Given the description of an element on the screen output the (x, y) to click on. 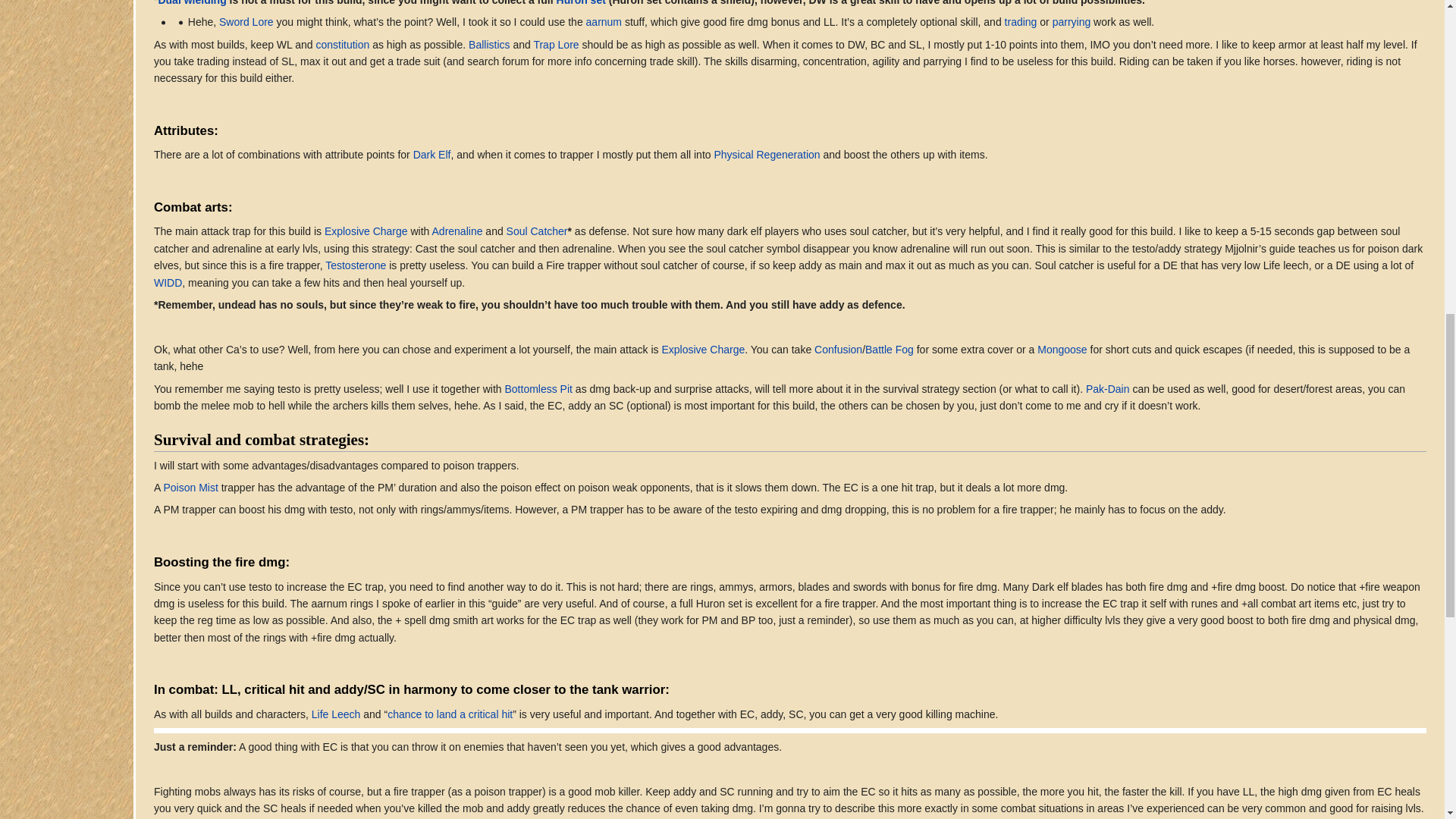
Sacred:Huron's Assassination (580, 2)
Sacred:Trading (1020, 21)
Sacred:Aarnum's Regalia (603, 21)
Sacred:Sword Lore (246, 21)
Sacred:Dual Wielding (191, 2)
